Given the description of an element on the screen output the (x, y) to click on. 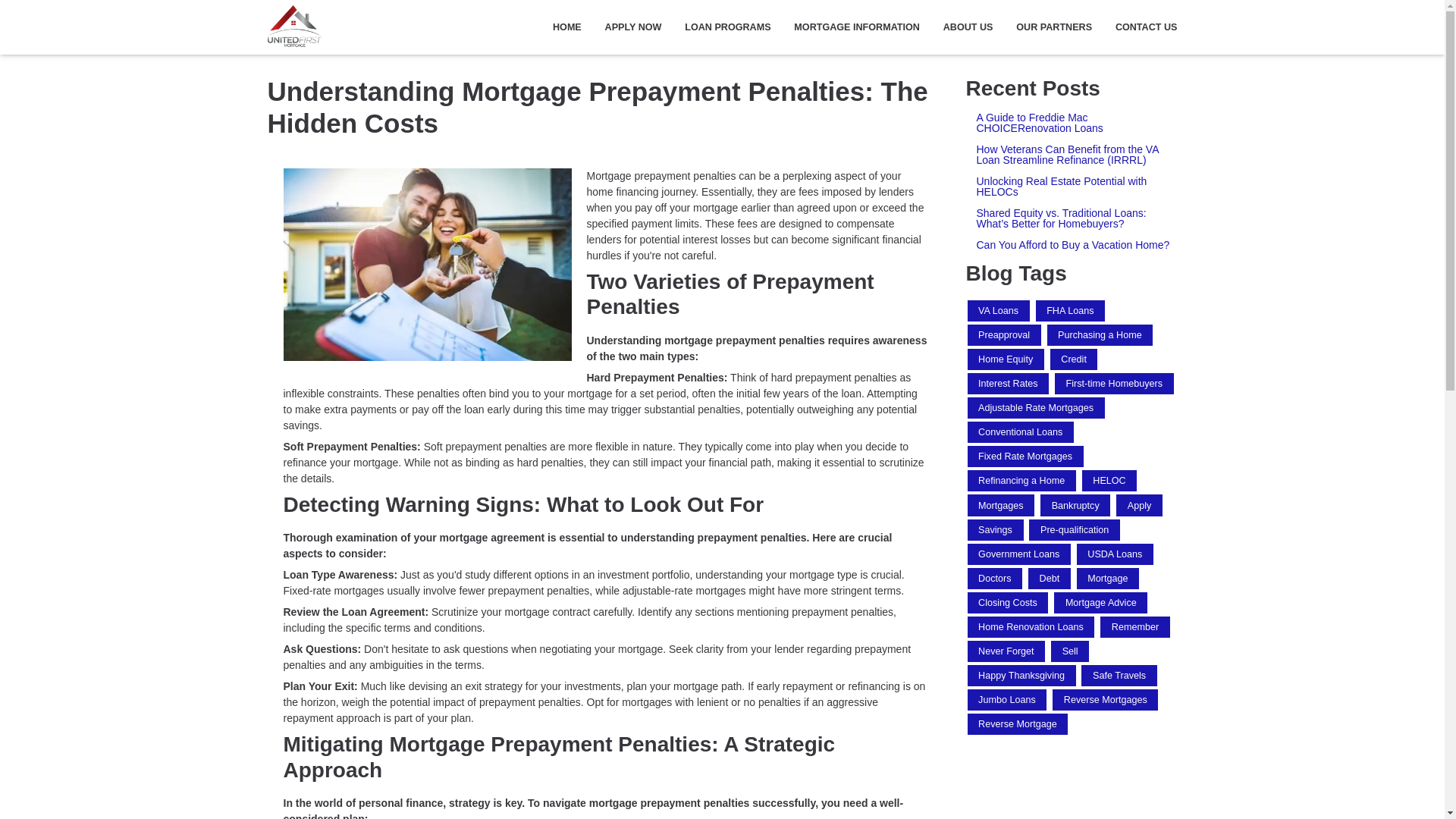
CONTACT US (1139, 27)
LOAN PROGRAMS (727, 27)
ABOUT US (967, 27)
HOME (567, 27)
Preapproval (1004, 334)
Unlocking Real Estate Potential with HELOCs (1071, 186)
MORTGAGE INFORMATION (857, 27)
A Guide to Freddie Mac CHOICERenovation Loans (1071, 122)
Can You Afford to Buy a Vacation Home? (1071, 244)
OUR PARTNERS (1053, 27)
